Given the description of an element on the screen output the (x, y) to click on. 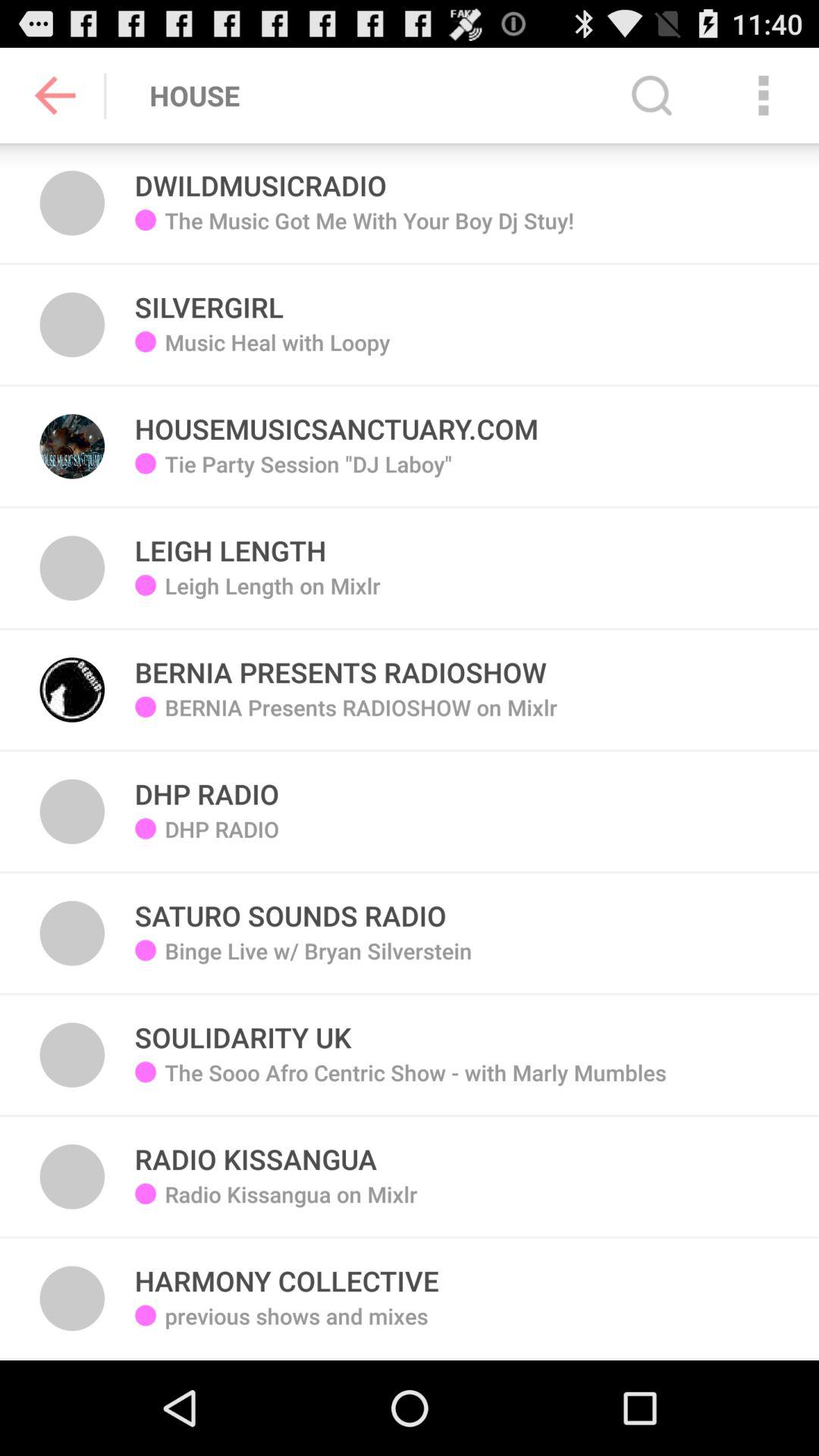
open the item below the dhp radio (290, 907)
